Given the description of an element on the screen output the (x, y) to click on. 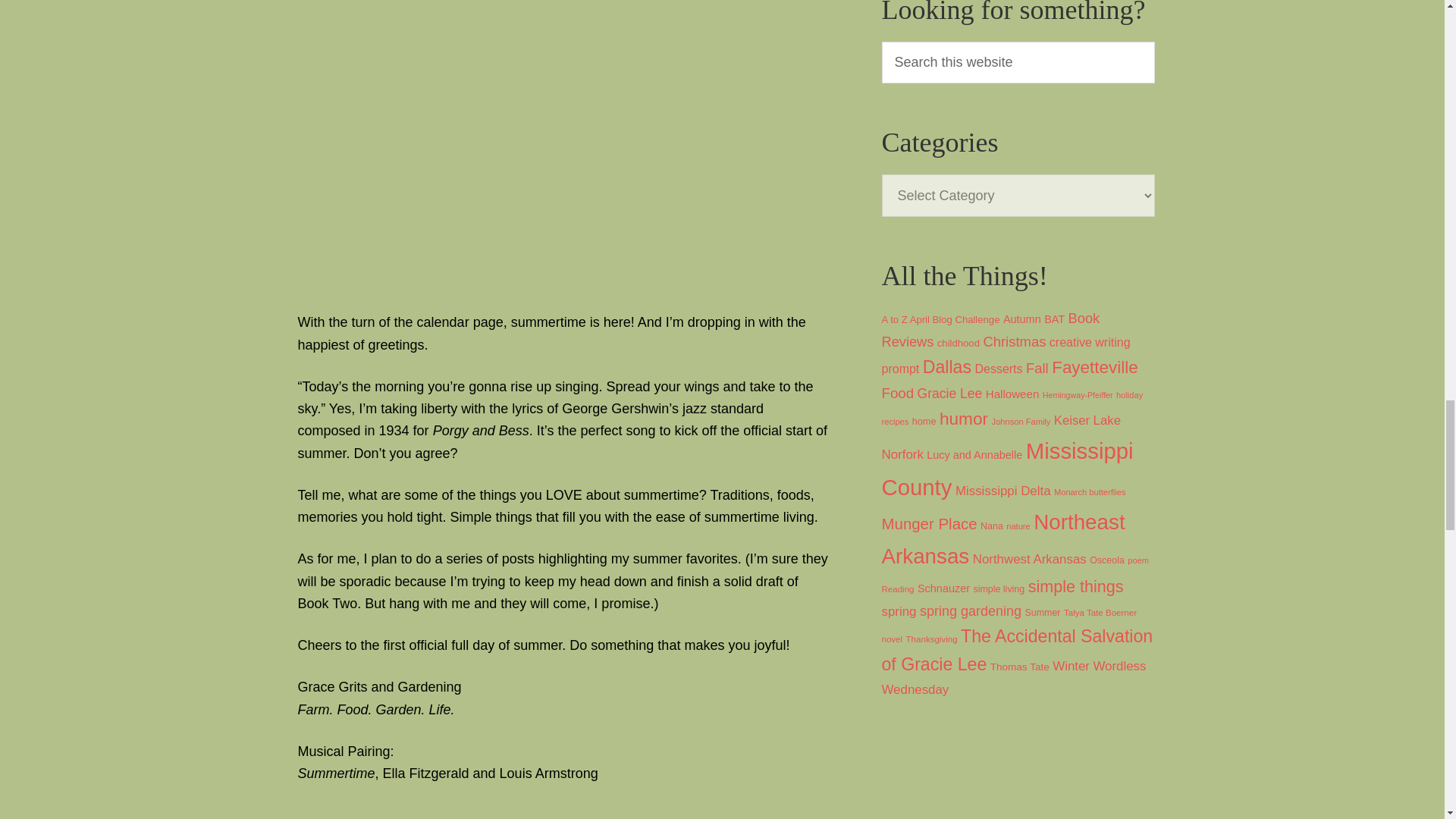
YouTube player (562, 811)
